Given the description of an element on the screen output the (x, y) to click on. 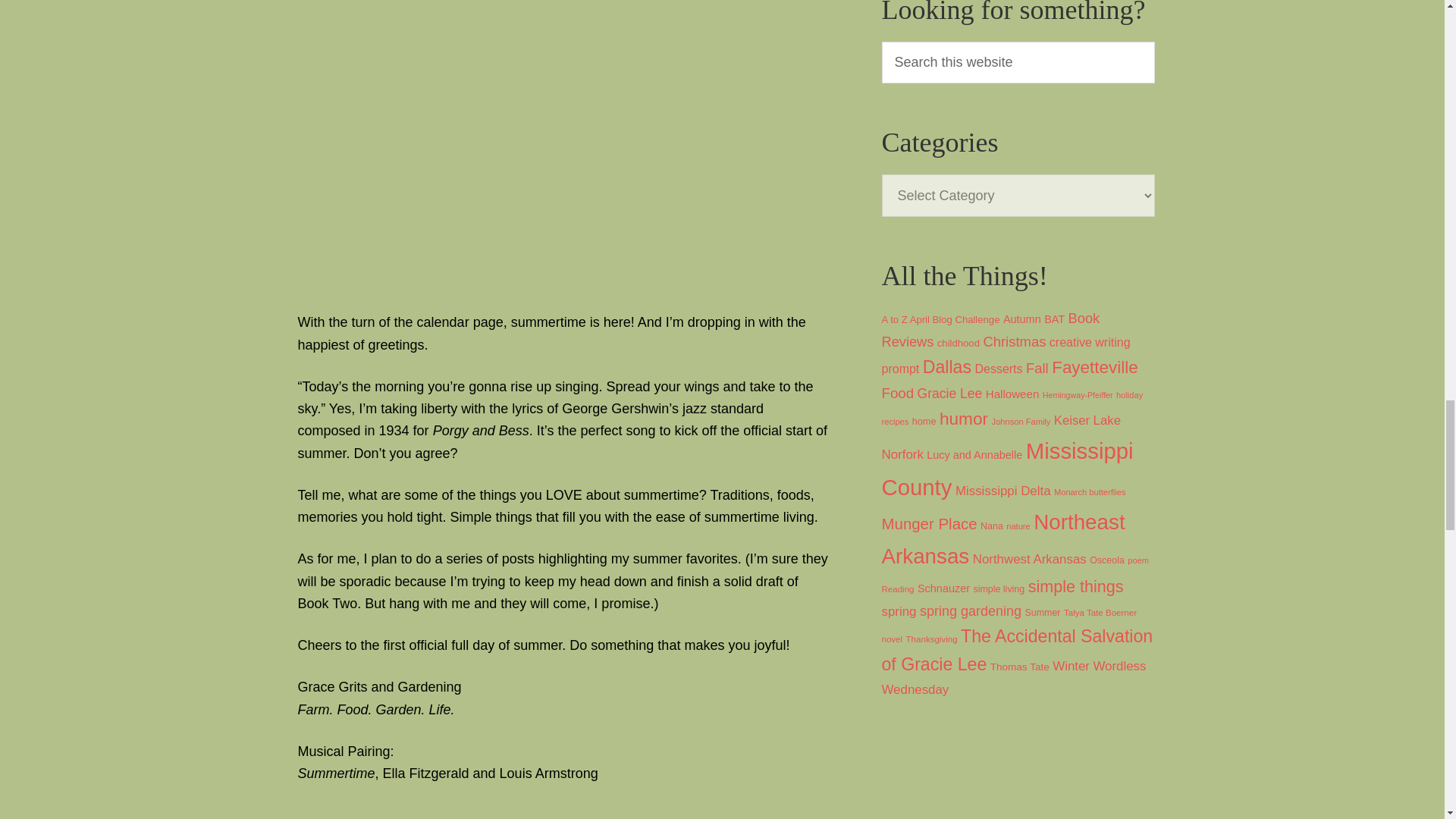
YouTube player (562, 811)
